Given the description of an element on the screen output the (x, y) to click on. 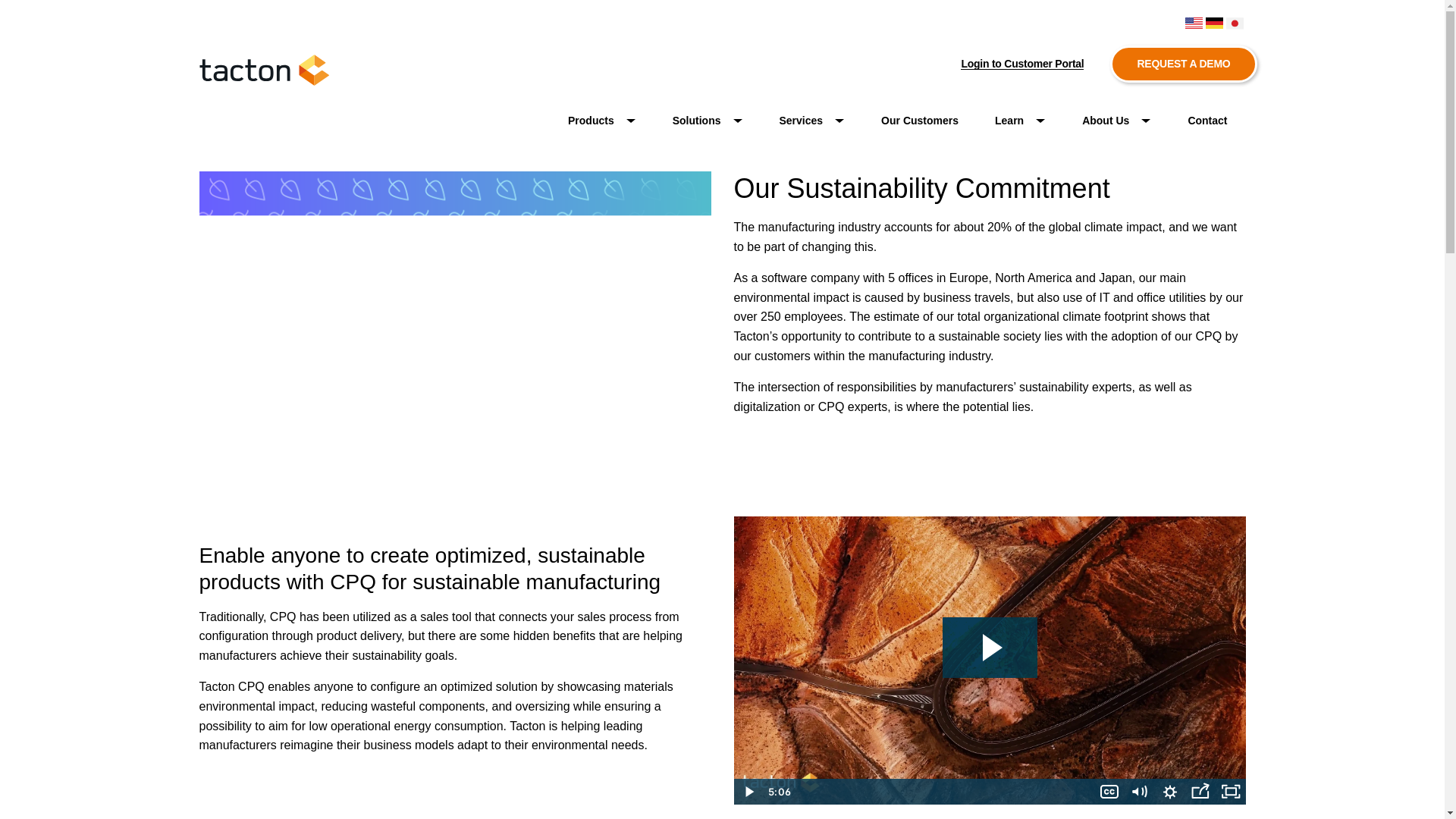
Login to Customer Portal (1022, 64)
Show settings menu (1169, 791)
Solutions (707, 121)
REQUEST A DEMO (1182, 63)
Products (601, 121)
Services (812, 121)
Our Customers (919, 121)
